Given the description of an element on the screen output the (x, y) to click on. 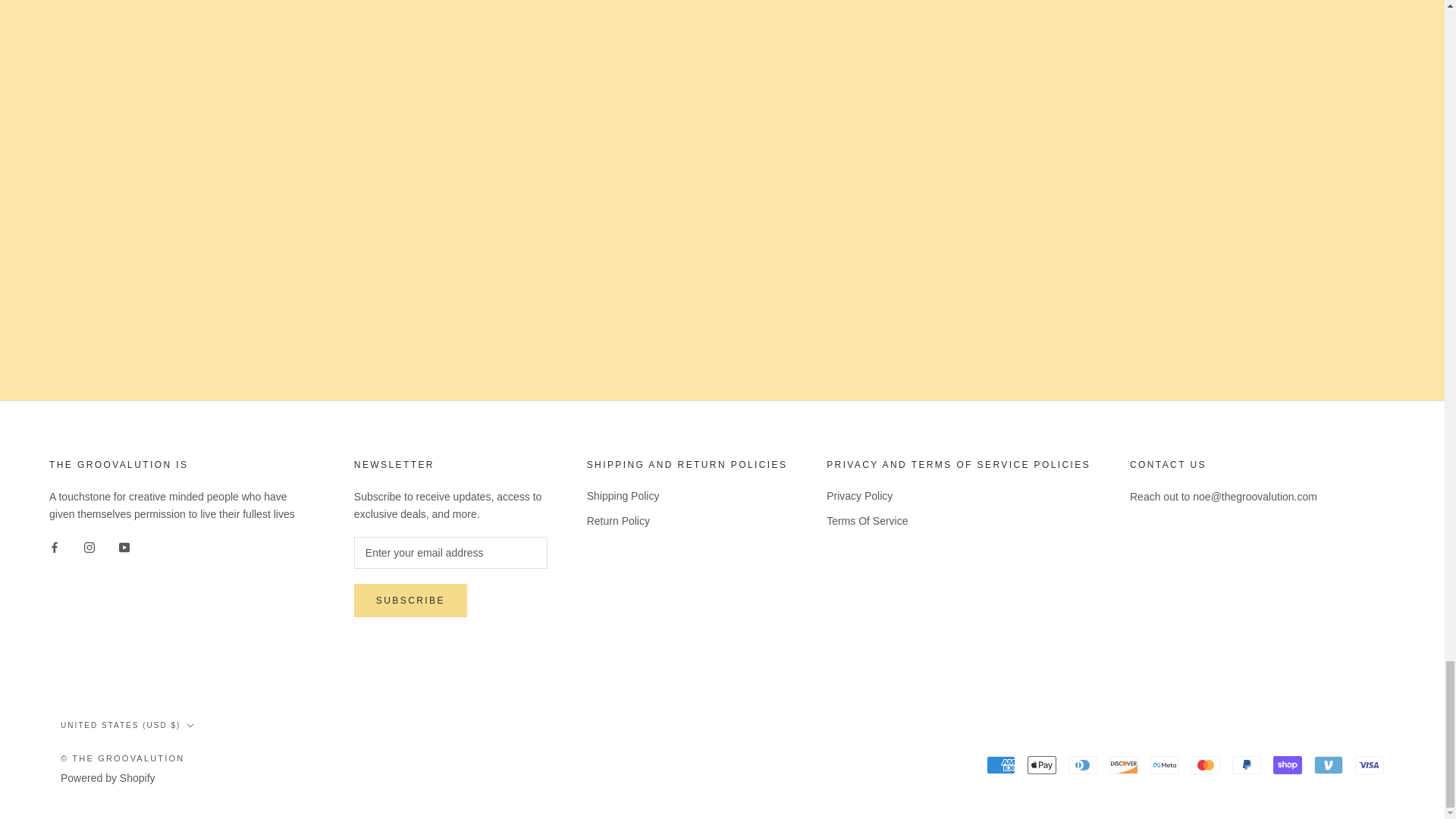
PayPal (1245, 764)
Apple Pay (1042, 764)
Discover (1123, 764)
Mastercard (1205, 764)
American Express (1000, 764)
Shop Pay (1286, 764)
Venmo (1328, 764)
Meta Pay (1164, 764)
Visa (1369, 764)
Diners Club (1082, 764)
